Given the description of an element on the screen output the (x, y) to click on. 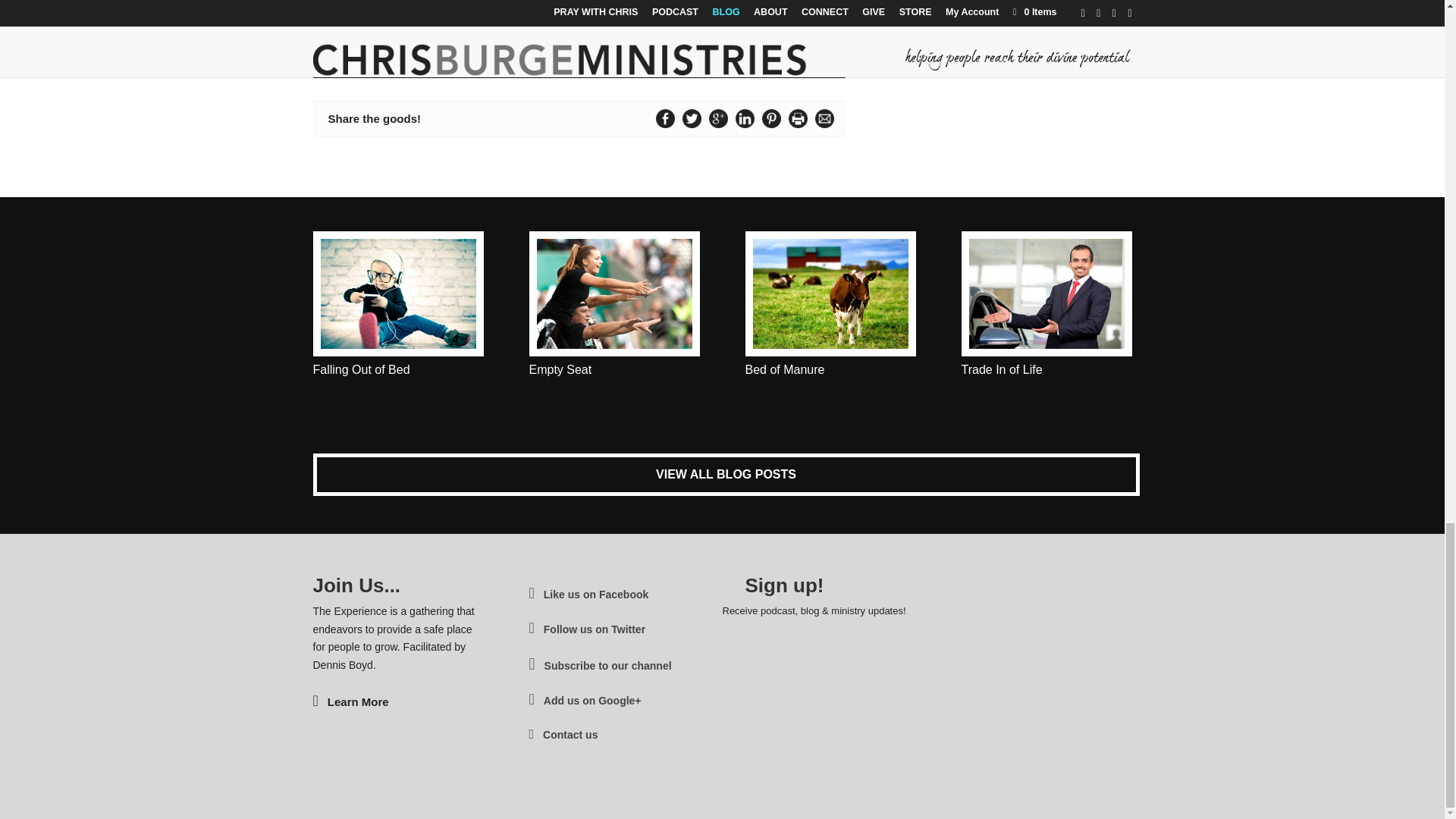
Email this page (824, 118)
Give (756, 61)
Tweet about this (691, 118)
Share this on Facebook (665, 118)
Share this on Linkedin (745, 118)
Pin this page (771, 118)
Print this page (797, 118)
